Given the description of an element on the screen output the (x, y) to click on. 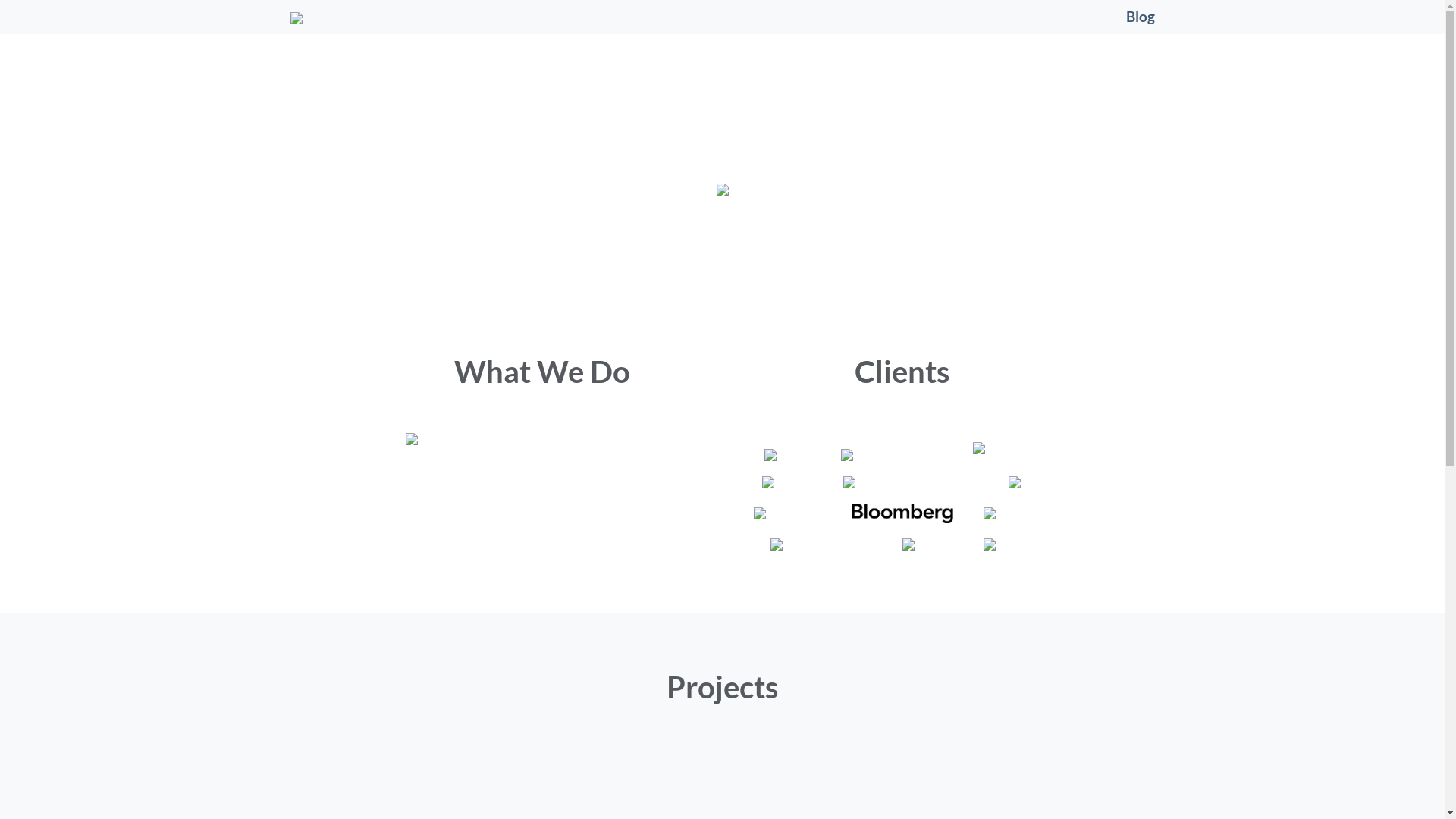
Blog Element type: text (1139, 17)
Projects Element type: text (722, 686)
